Given the description of an element on the screen output the (x, y) to click on. 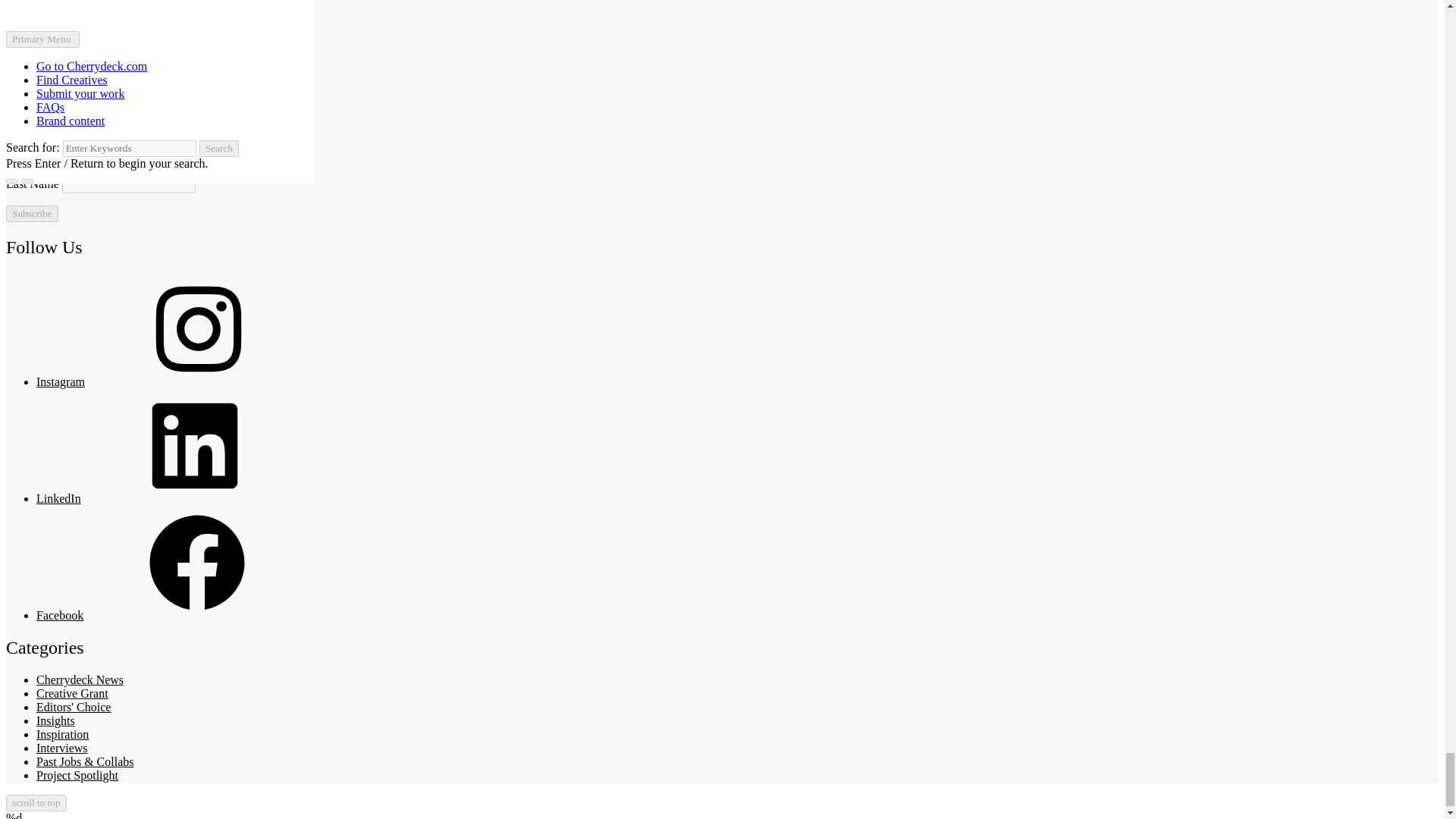
Subscribe (31, 213)
